Given the description of an element on the screen output the (x, y) to click on. 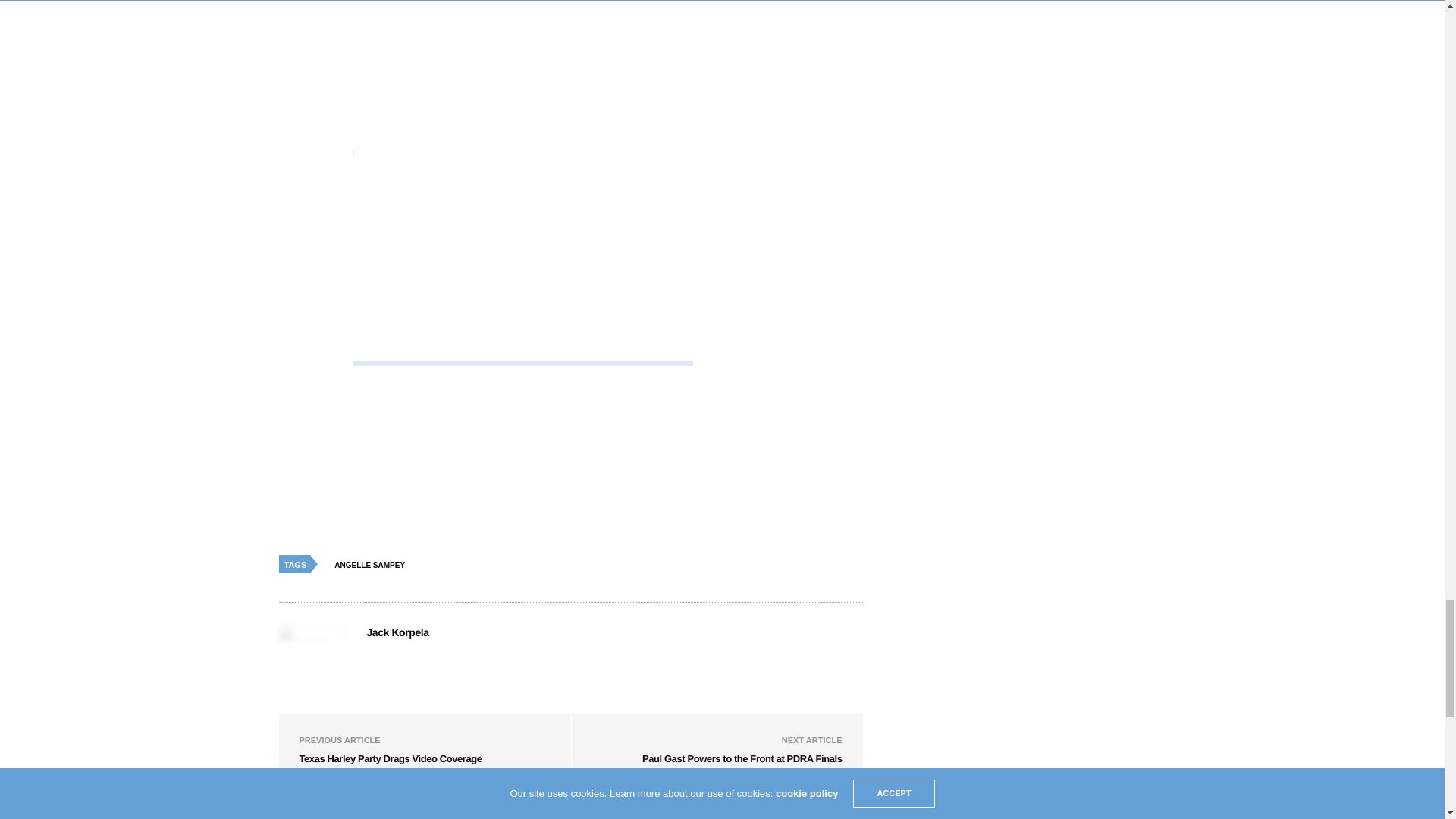
Paul Gast Powers to the Front at PDRA Finals (741, 758)
Texas Harley Party Drags Video Coverage (389, 758)
